Given the description of an element on the screen output the (x, y) to click on. 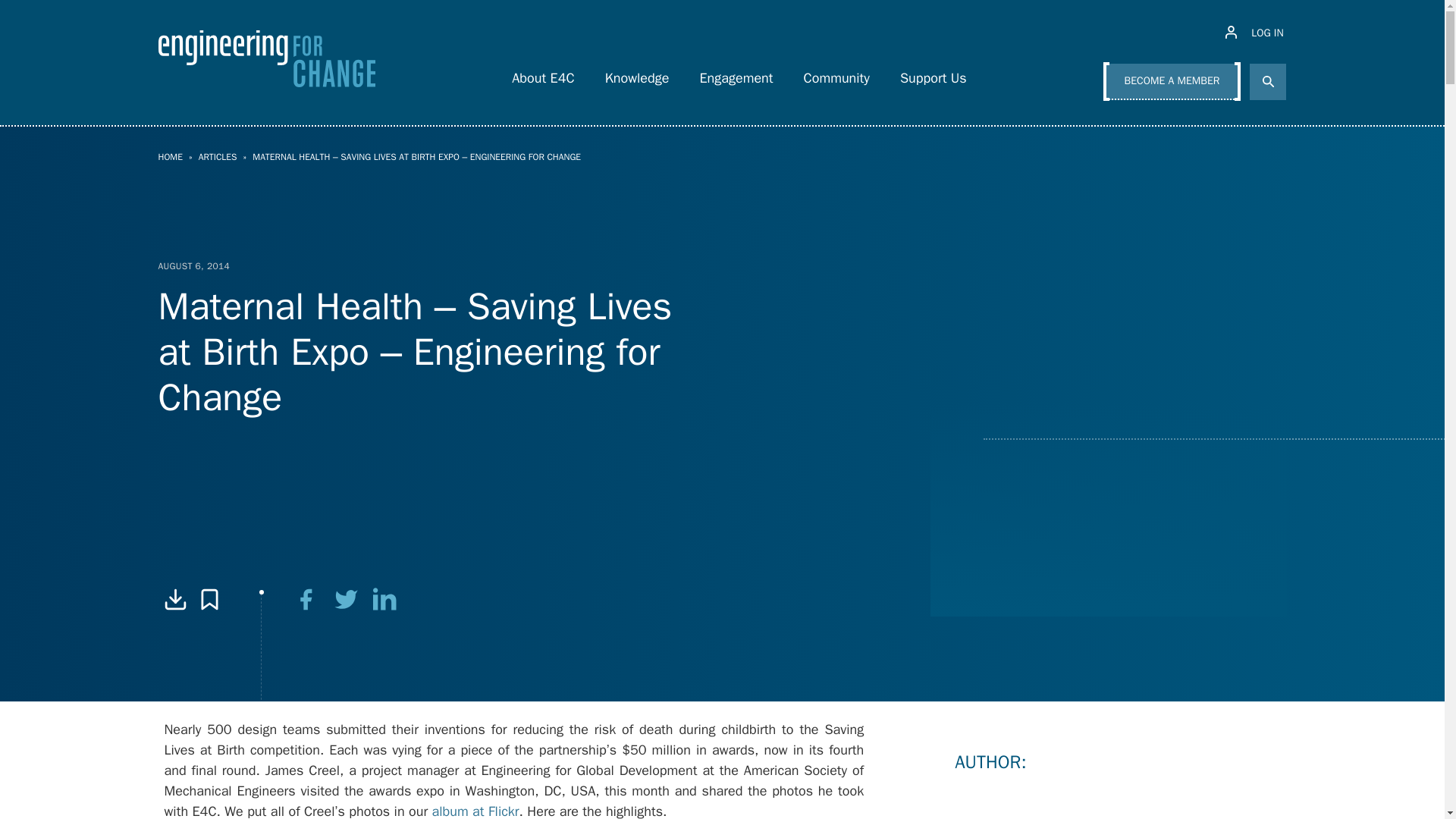
facebook (306, 598)
About E4C (542, 73)
twitter (345, 598)
HOME (169, 156)
Community (837, 73)
Engagement (735, 73)
Knowledge (636, 73)
LOG IN (1255, 33)
Log in to bookmark (209, 599)
linkedin (384, 598)
